Given the description of an element on the screen output the (x, y) to click on. 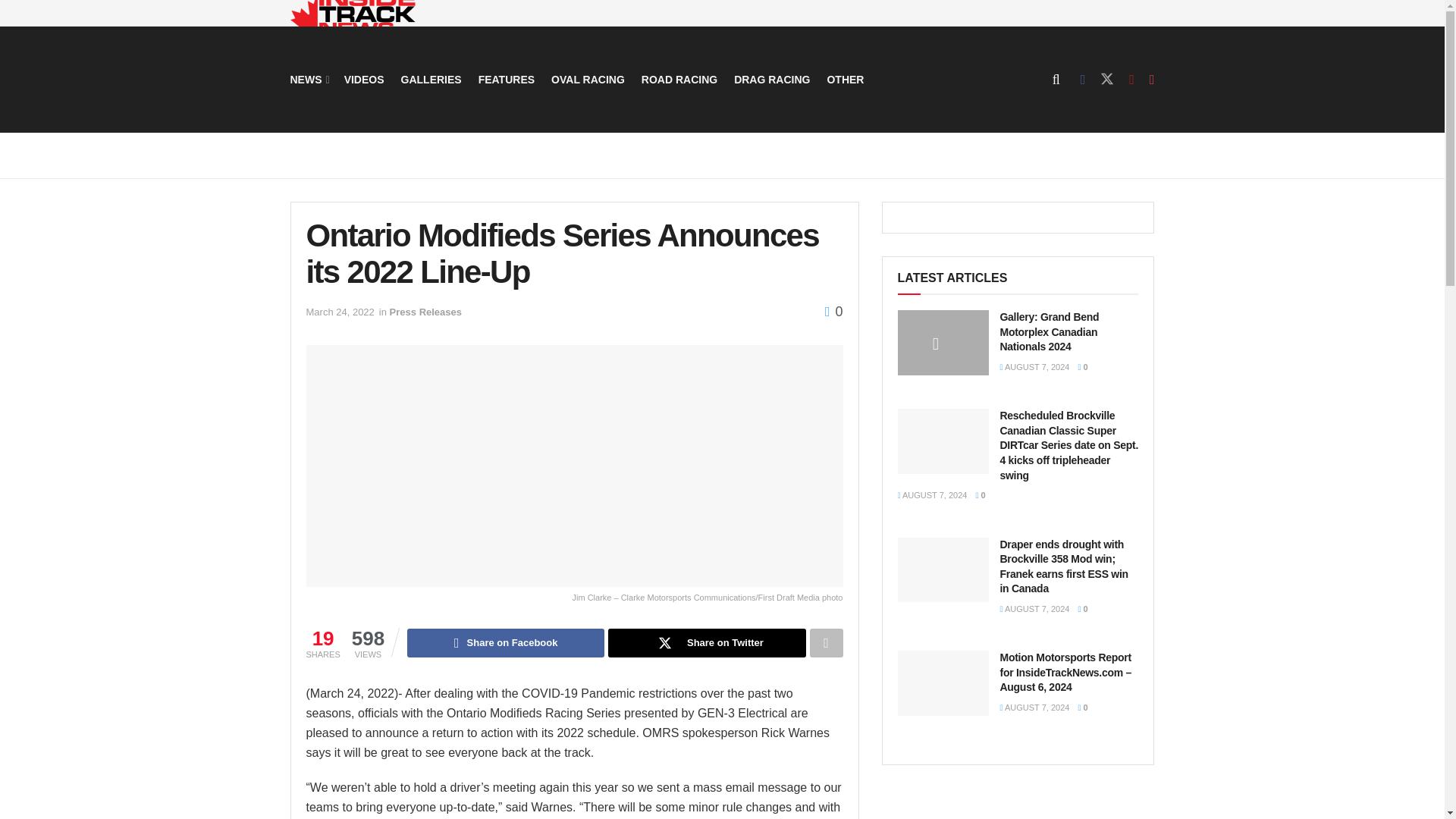
VIDEOS (363, 79)
OVAL RACING (587, 79)
ROAD RACING (679, 79)
NEWS (307, 79)
OTHER (845, 79)
FEATURES (506, 79)
GALLERIES (431, 79)
DRAG RACING (771, 79)
